Given the description of an element on the screen output the (x, y) to click on. 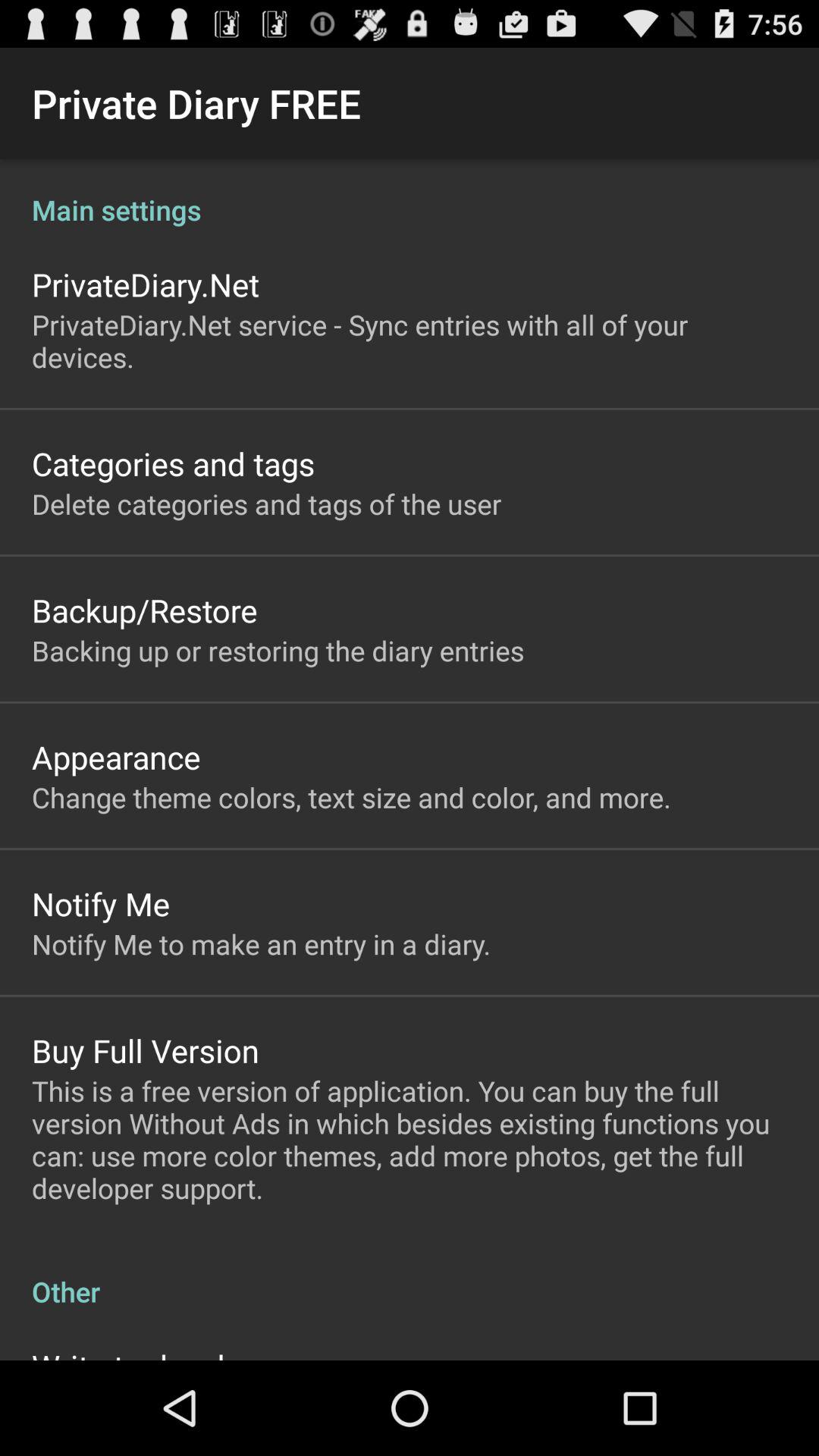
turn off the change theme colors item (351, 797)
